Given the description of an element on the screen output the (x, y) to click on. 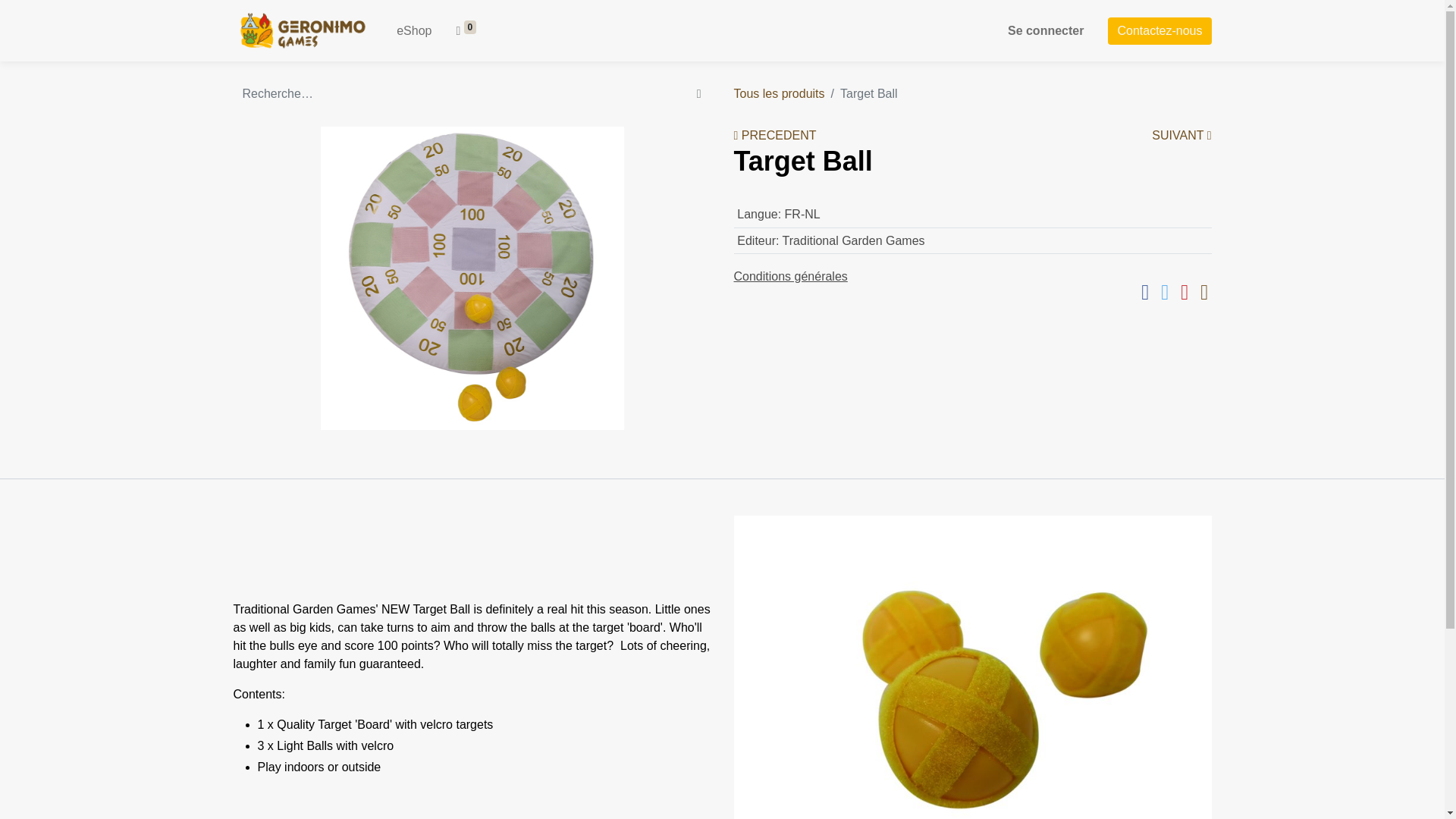
SUIVANT (1181, 134)
PRECEDENT (774, 134)
Contactez-nous (1159, 30)
0 (465, 30)
Se connecter (1045, 30)
Tous les produits (779, 92)
eShop (414, 30)
Geronimo - Resellers eShop (302, 30)
